Given the description of an element on the screen output the (x, y) to click on. 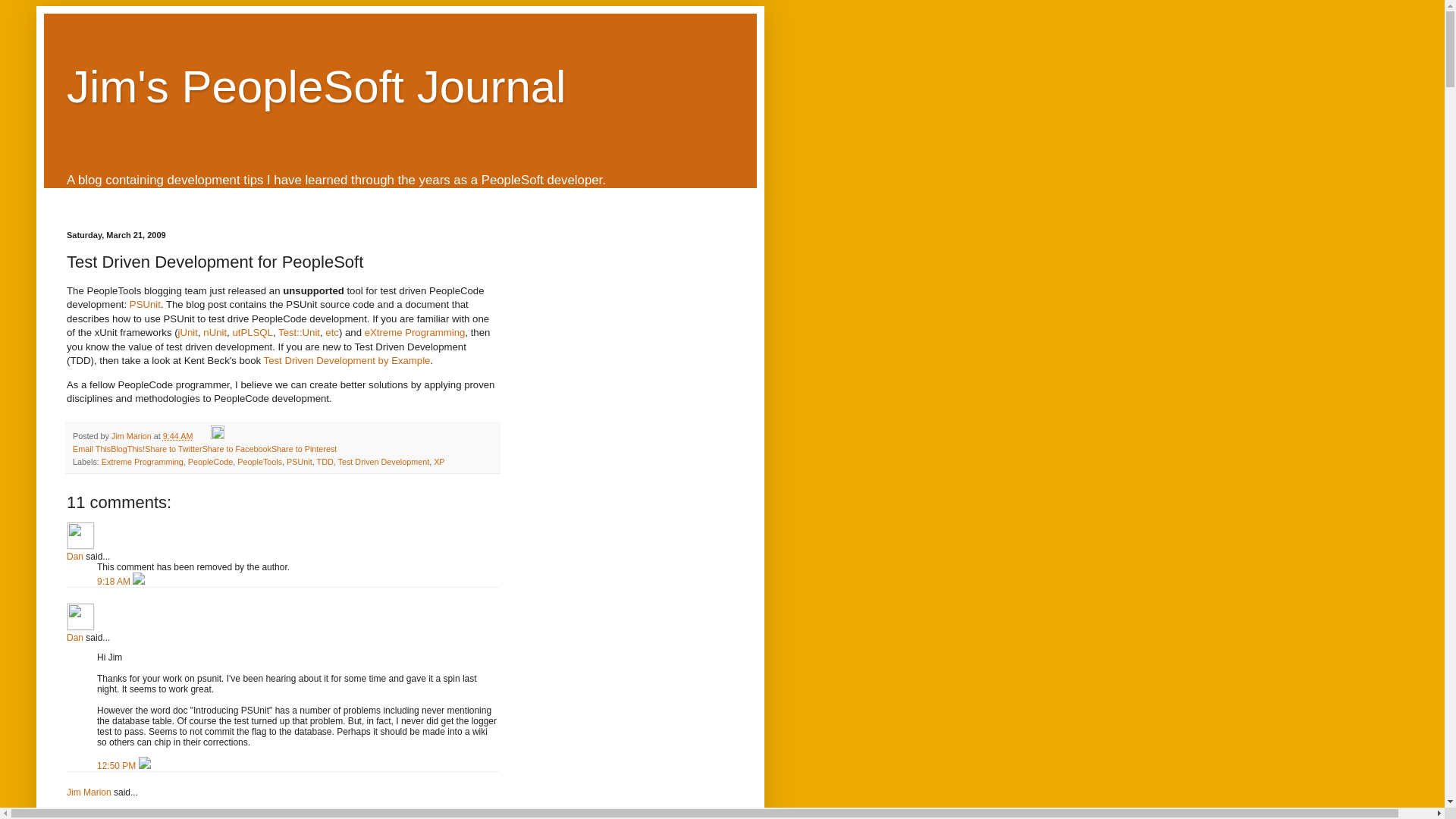
author profile (133, 435)
comment permalink (114, 581)
12:50 PM (117, 765)
Share to Twitter (173, 448)
BlogThis! (127, 448)
comment permalink (117, 765)
Email This (91, 448)
Jim's PeopleSoft Journal (316, 86)
PSUnit (299, 461)
Dan (74, 556)
Dan (80, 616)
Dan (74, 637)
Share to Pinterest (303, 448)
Jim Marion (89, 792)
Jim Marion (133, 435)
